Given the description of an element on the screen output the (x, y) to click on. 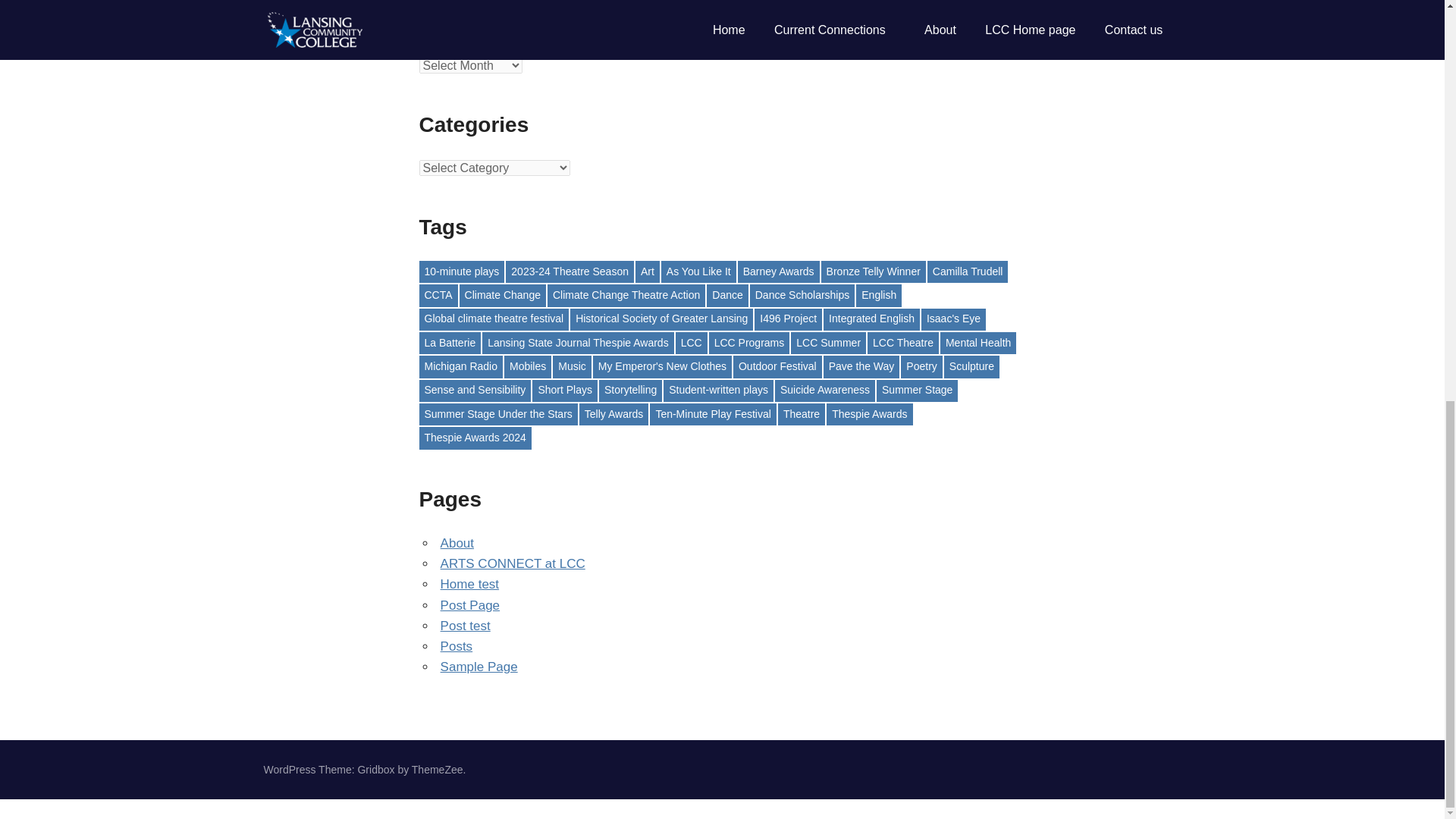
Isaac's Eye (953, 319)
10-minute plays (461, 271)
Lansing State Journal Thespie Awards (576, 342)
Climate Change Theatre Action (625, 295)
CCTA (438, 295)
2023-24 Theatre Season (569, 271)
Climate Change (503, 295)
Historical Society of Greater Lansing (661, 319)
Camilla Trudell (968, 271)
La Batterie (449, 342)
Bronze Telly Winner (873, 271)
Integrated English (872, 319)
Art (646, 271)
Barney Awards (778, 271)
Dance Scholarships (802, 295)
